Given the description of an element on the screen output the (x, y) to click on. 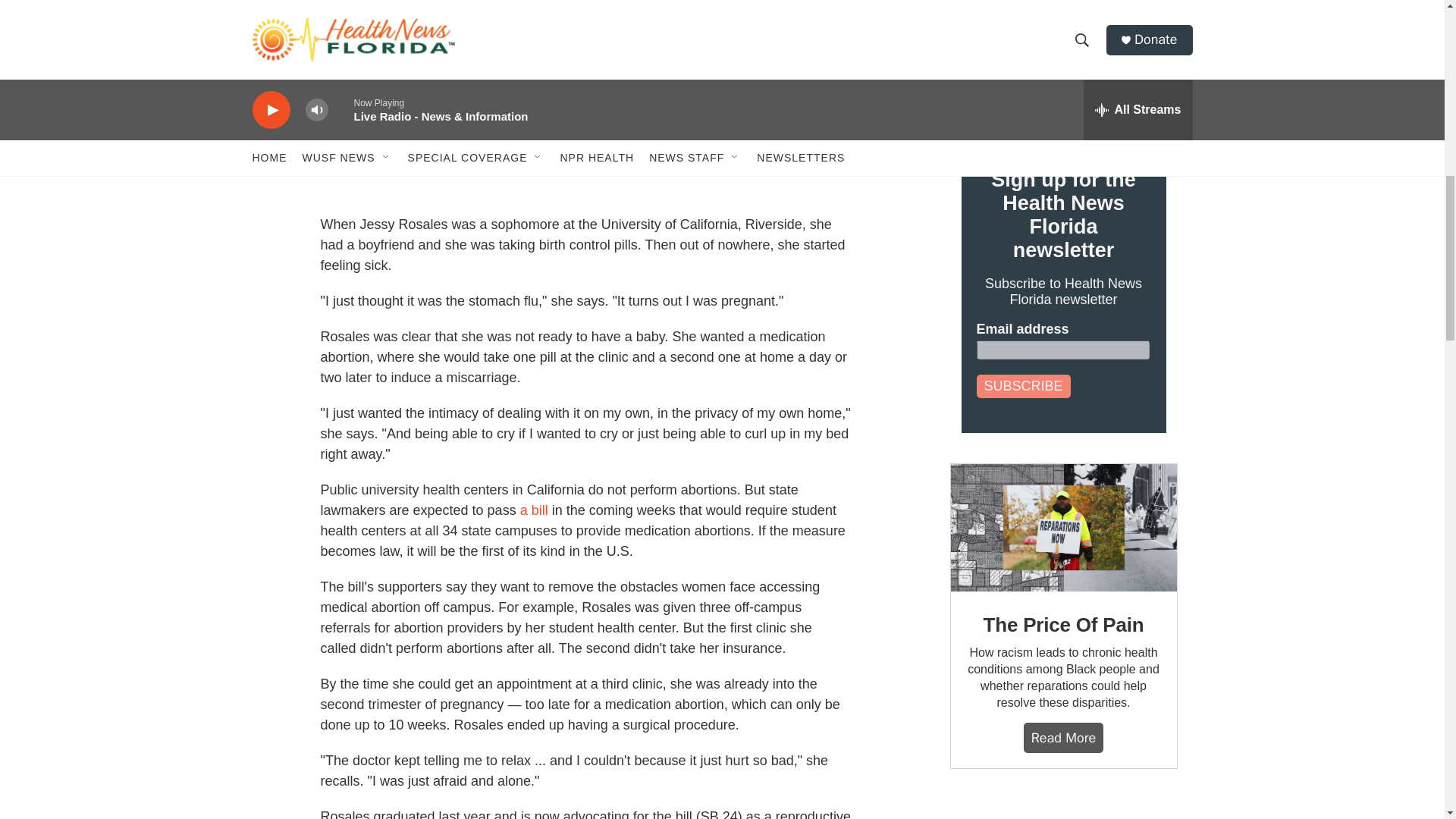
3rd party ad content (1062, 809)
